Given the description of an element on the screen output the (x, y) to click on. 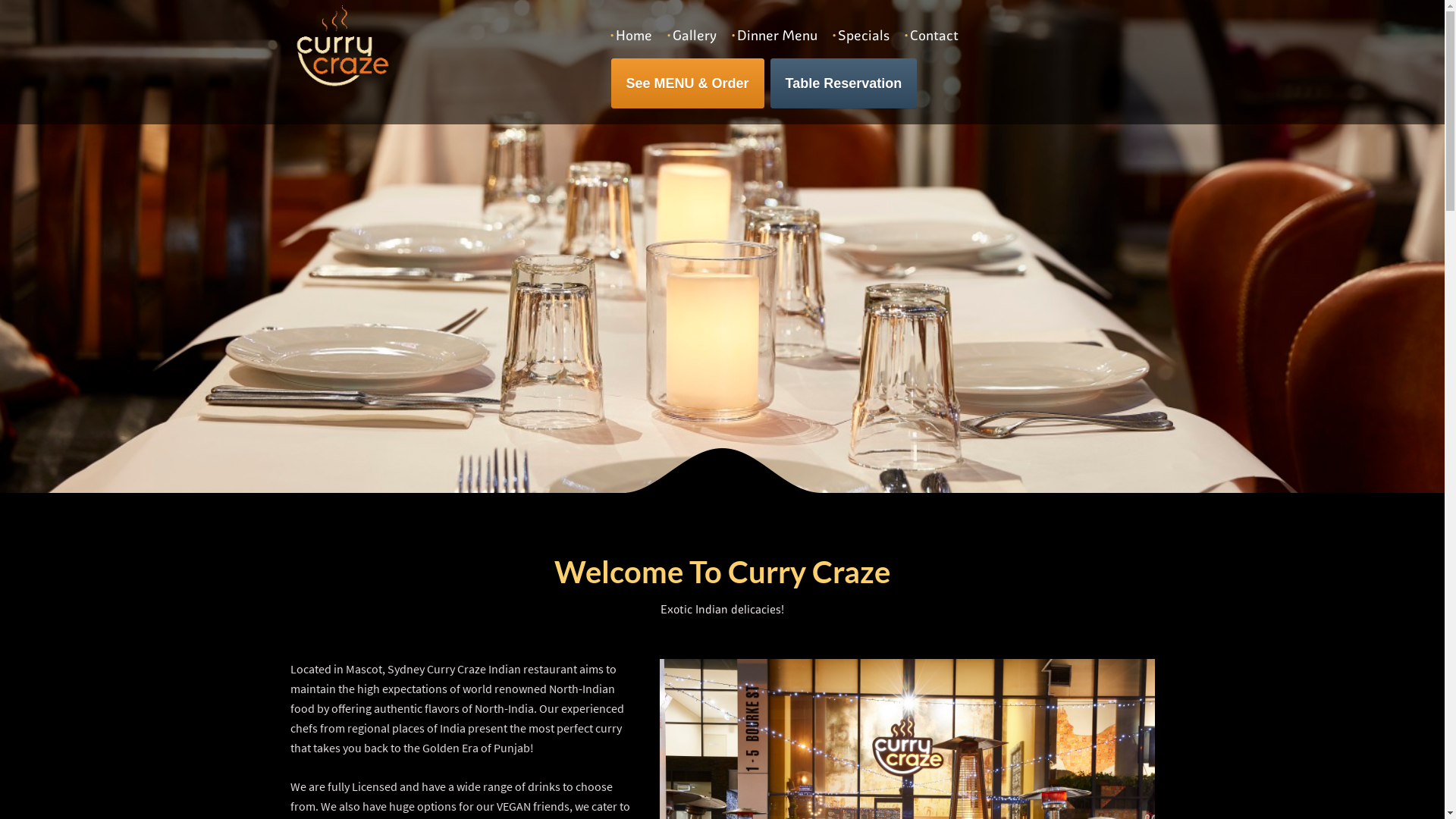
Specials Element type: text (859, 35)
Home Element type: text (630, 35)
Gallery Element type: text (690, 35)
Contact Element type: text (930, 35)
Dinner Menu Element type: text (774, 35)
